Given the description of an element on the screen output the (x, y) to click on. 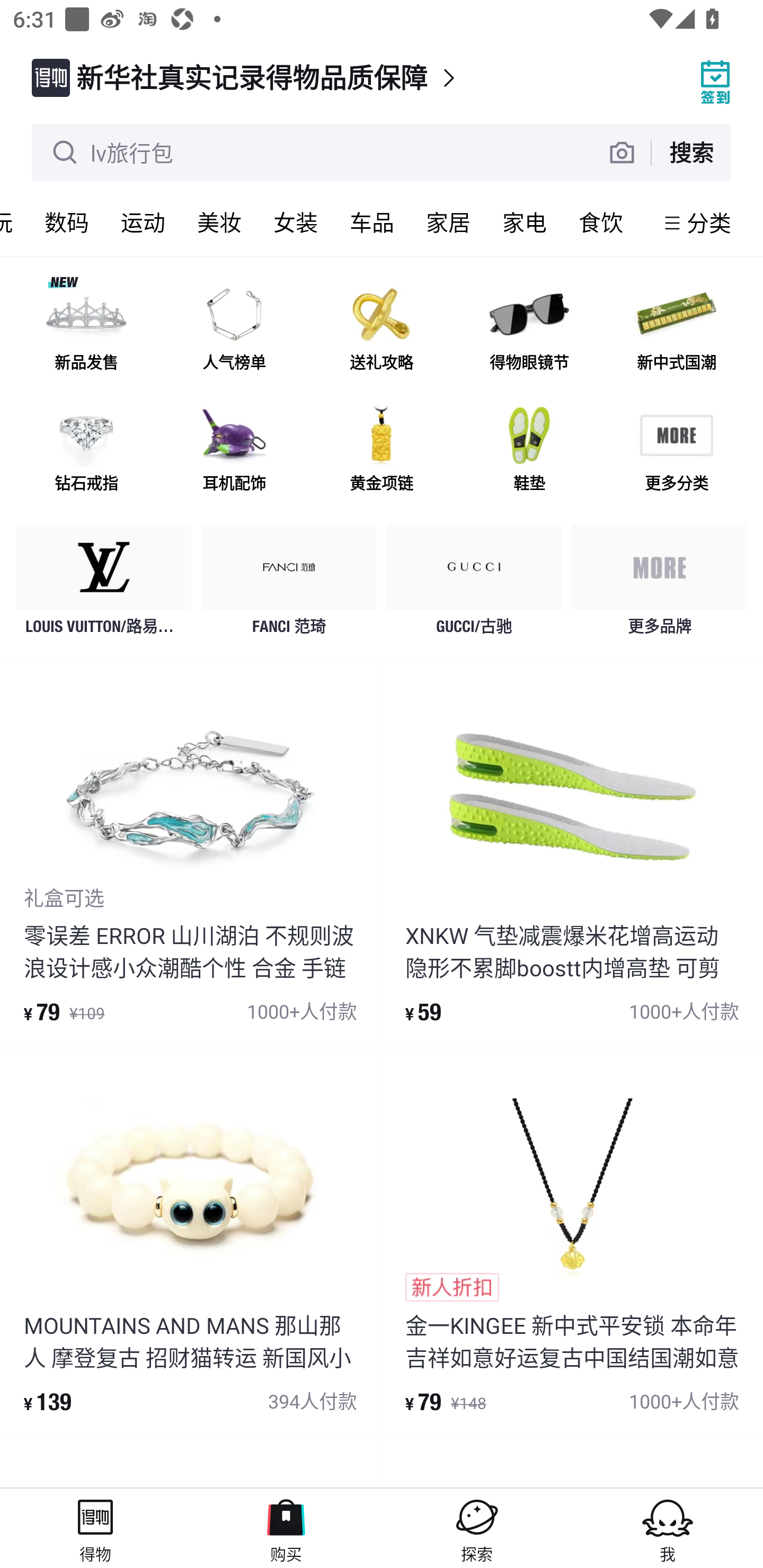
搜索 (690, 152)
数码 (66, 222)
运动 (143, 222)
美妆 (219, 222)
女装 (295, 222)
车品 (372, 222)
家居 (448, 222)
家电 (524, 222)
食饮 (601, 222)
分类 (708, 222)
新品发售 (86, 329)
人气榜单 (233, 329)
送礼攻略 (381, 329)
得物眼镜节 (528, 329)
新中式国潮 (676, 329)
钻石戒指 (86, 450)
耳机配饰 (233, 450)
黄金项链 (381, 450)
鞋垫 (528, 450)
更多分类 (676, 450)
LOUIS VUITTON/路易威登 (103, 583)
FANCI 范琦 (288, 583)
GUCCI/古驰 (473, 583)
更多品牌 (658, 583)
得物 (95, 1528)
购买 (285, 1528)
探索 (476, 1528)
我 (667, 1528)
